Given the description of an element on the screen output the (x, y) to click on. 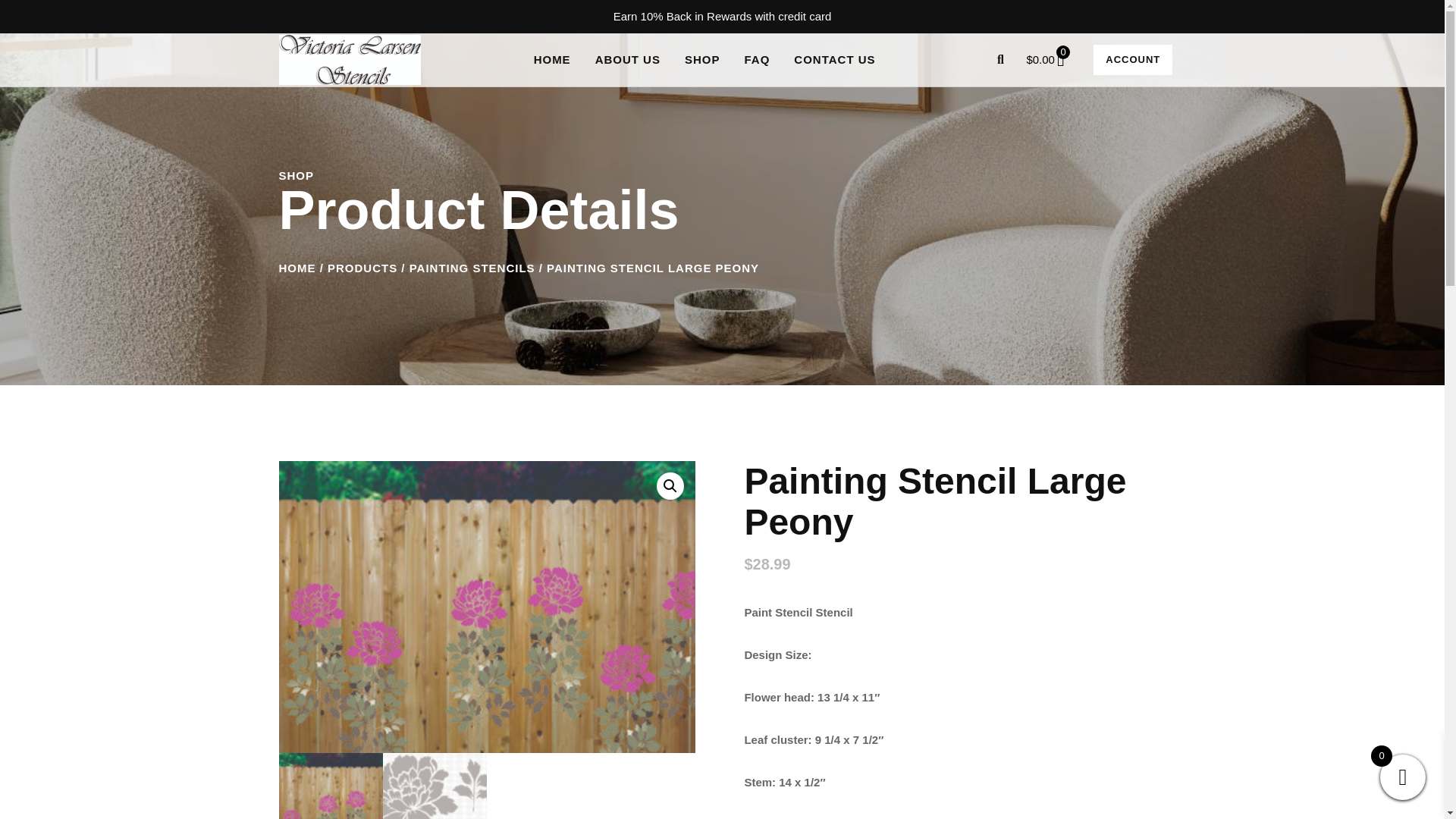
ACCOUNT (1132, 60)
PAINTING STENCILS (472, 267)
PRODUCTS (362, 267)
CONTACT US (834, 59)
stencil-large-peony (487, 606)
ABOUT US (628, 59)
HOME (297, 267)
